Given the description of an element on the screen output the (x, y) to click on. 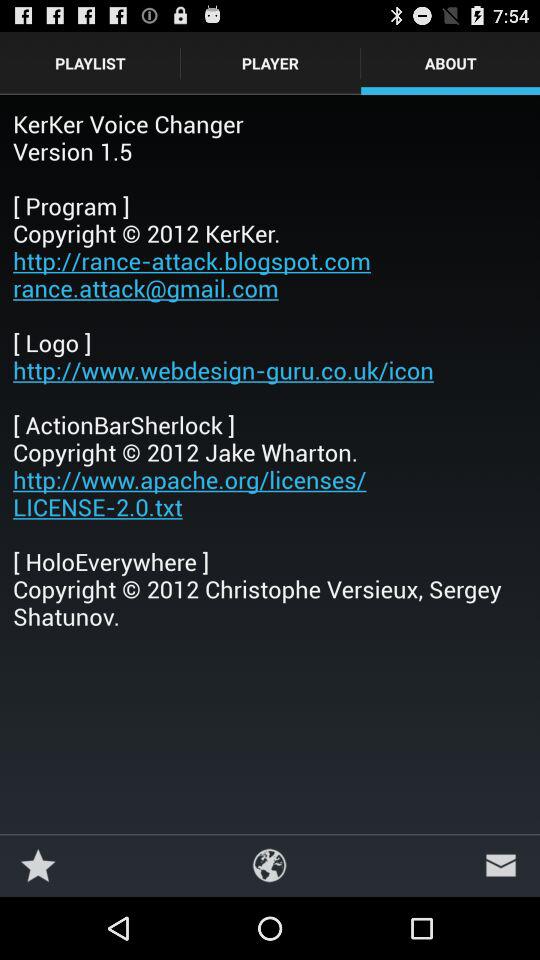
launch icon at the center (270, 369)
